Given the description of an element on the screen output the (x, y) to click on. 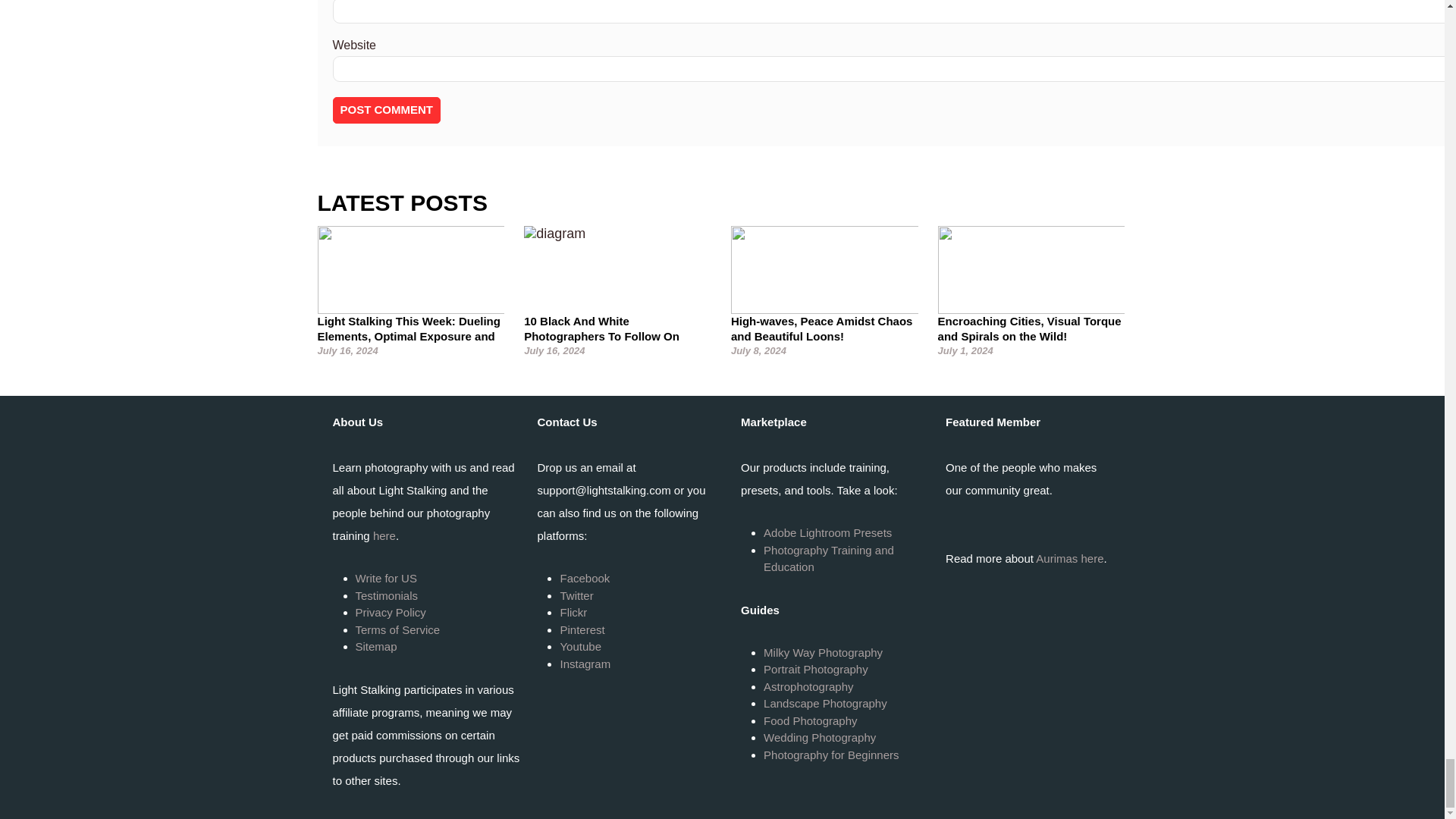
Post Comment (386, 110)
